Given the description of an element on the screen output the (x, y) to click on. 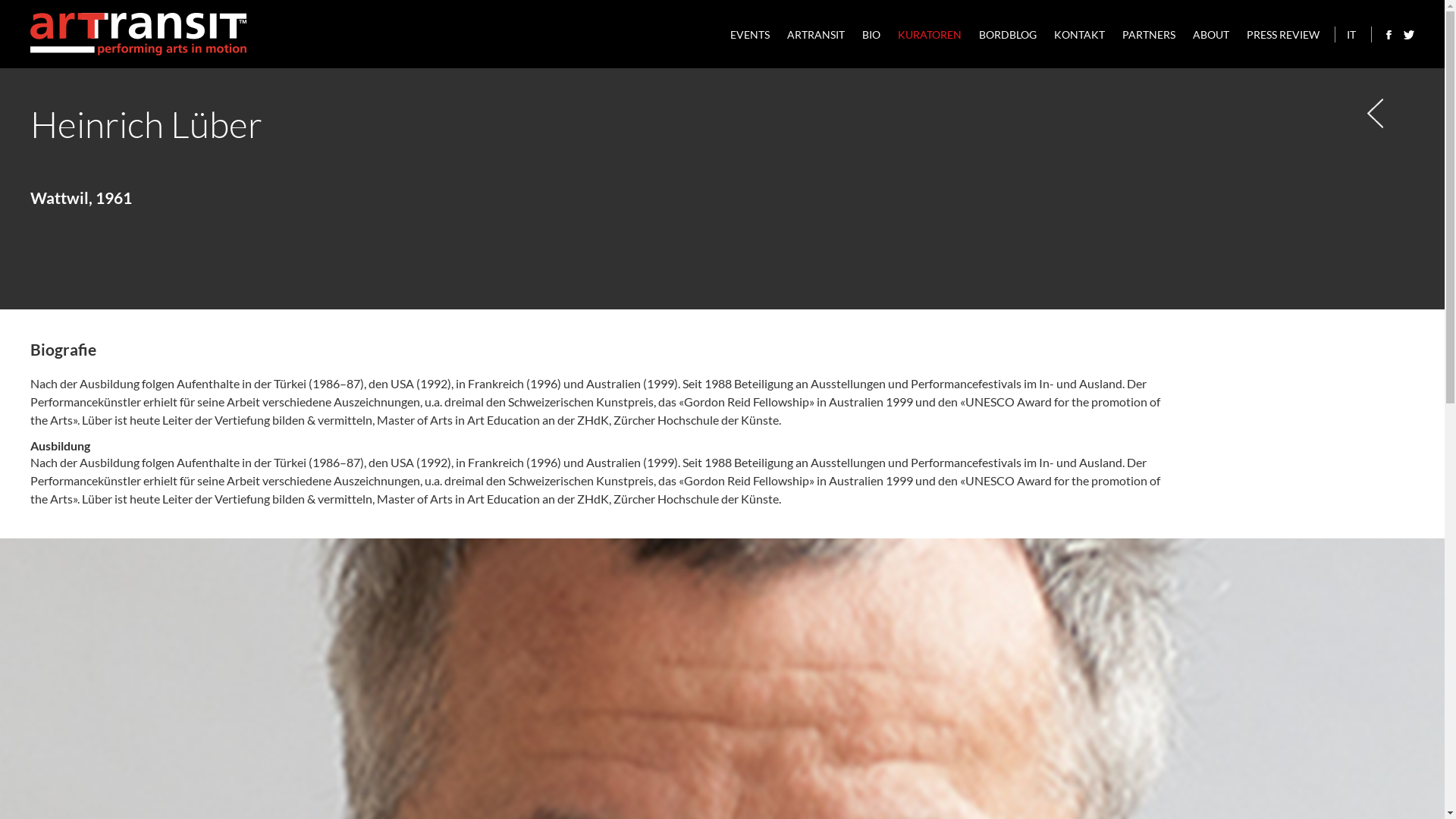
ARTRANSIT Element type: text (815, 34)
BIO Element type: text (871, 34)
ABOUT Element type: text (1210, 34)
EVENTS Element type: text (749, 34)
PRESS REVIEW Element type: text (1282, 34)
LOGO Element type: text (138, 34)
BORDBLOG Element type: text (1007, 34)
PARTNERS Element type: text (1148, 34)
IT Element type: text (1350, 34)
KONTAKT Element type: text (1079, 34)
KURATOREN Element type: text (929, 34)
